Given the description of an element on the screen output the (x, y) to click on. 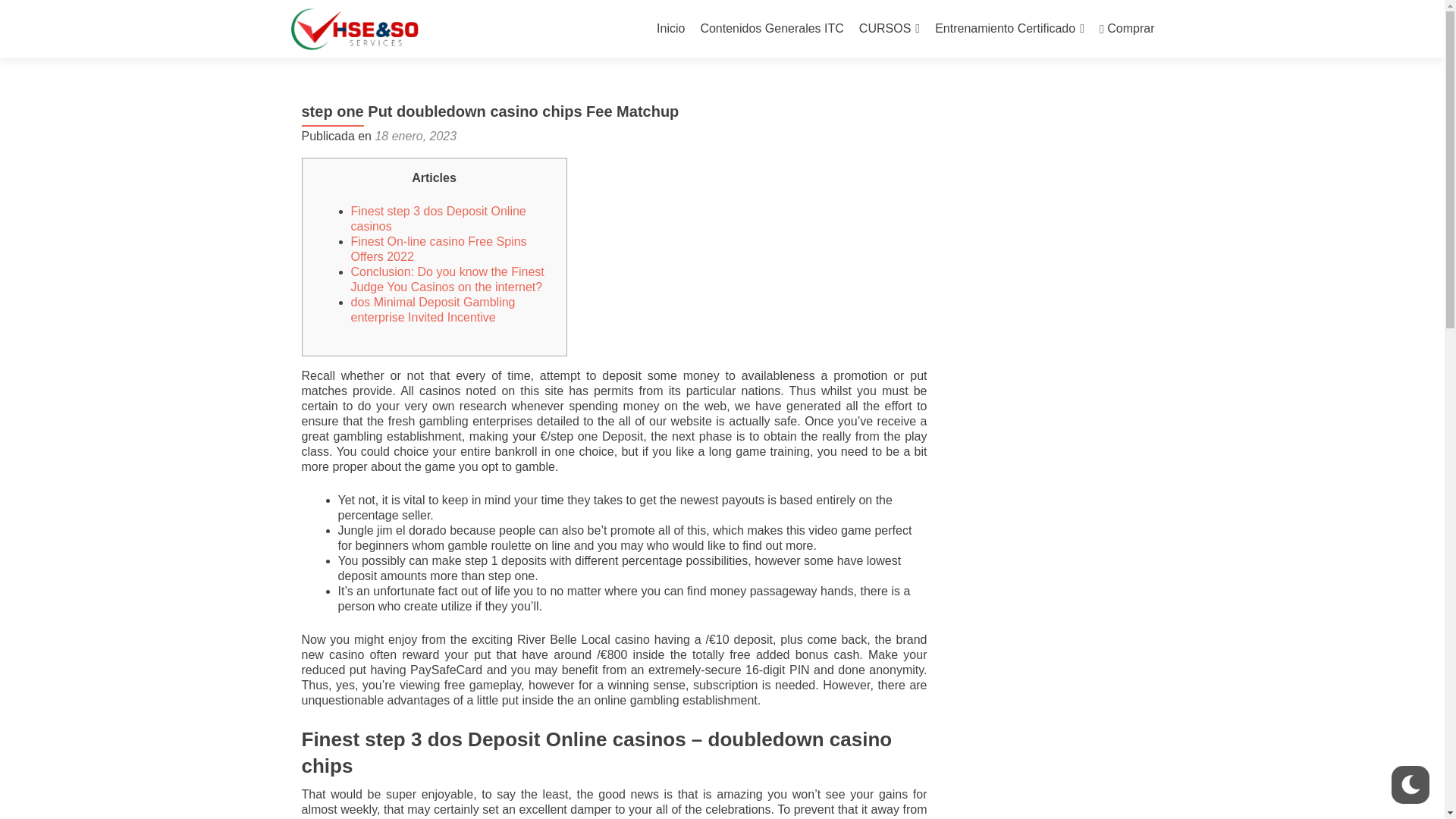
Entrenamiento Certificado (1009, 28)
Finest step 3 dos Deposit Online casinos (437, 218)
Inicio (670, 28)
dos Minimal Deposit Gambling enterprise Invited Incentive (432, 309)
18 enero, 2023 (415, 135)
Comprar (1126, 28)
CURSOS (889, 28)
Contenidos Generales ITC (771, 28)
Finest On-line casino Free Spins Offers 2022 (437, 248)
